Given the description of an element on the screen output the (x, y) to click on. 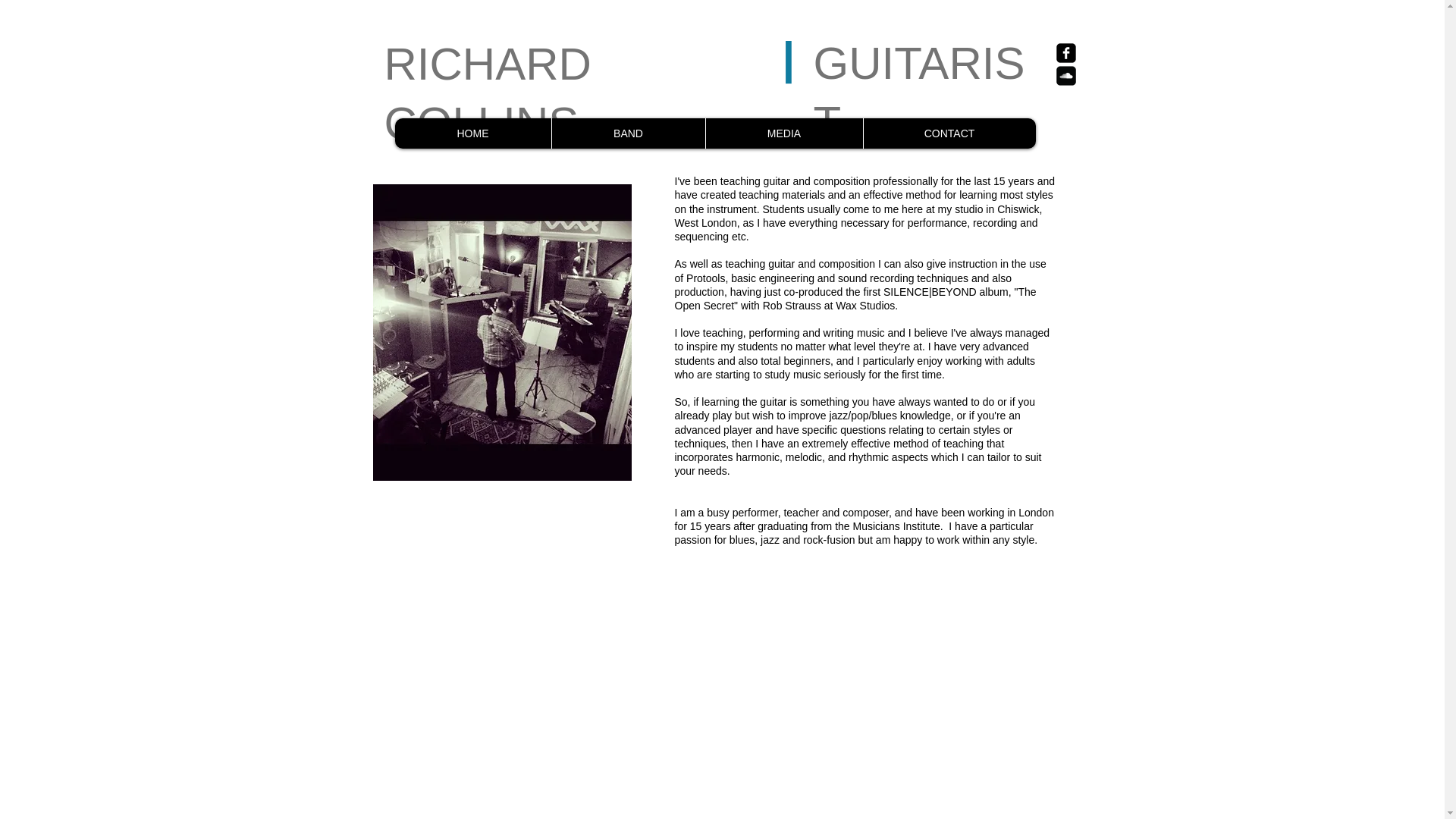
CONTACT (949, 132)
BAND (627, 132)
MEDIA (783, 132)
HOME (472, 132)
